Given the description of an element on the screen output the (x, y) to click on. 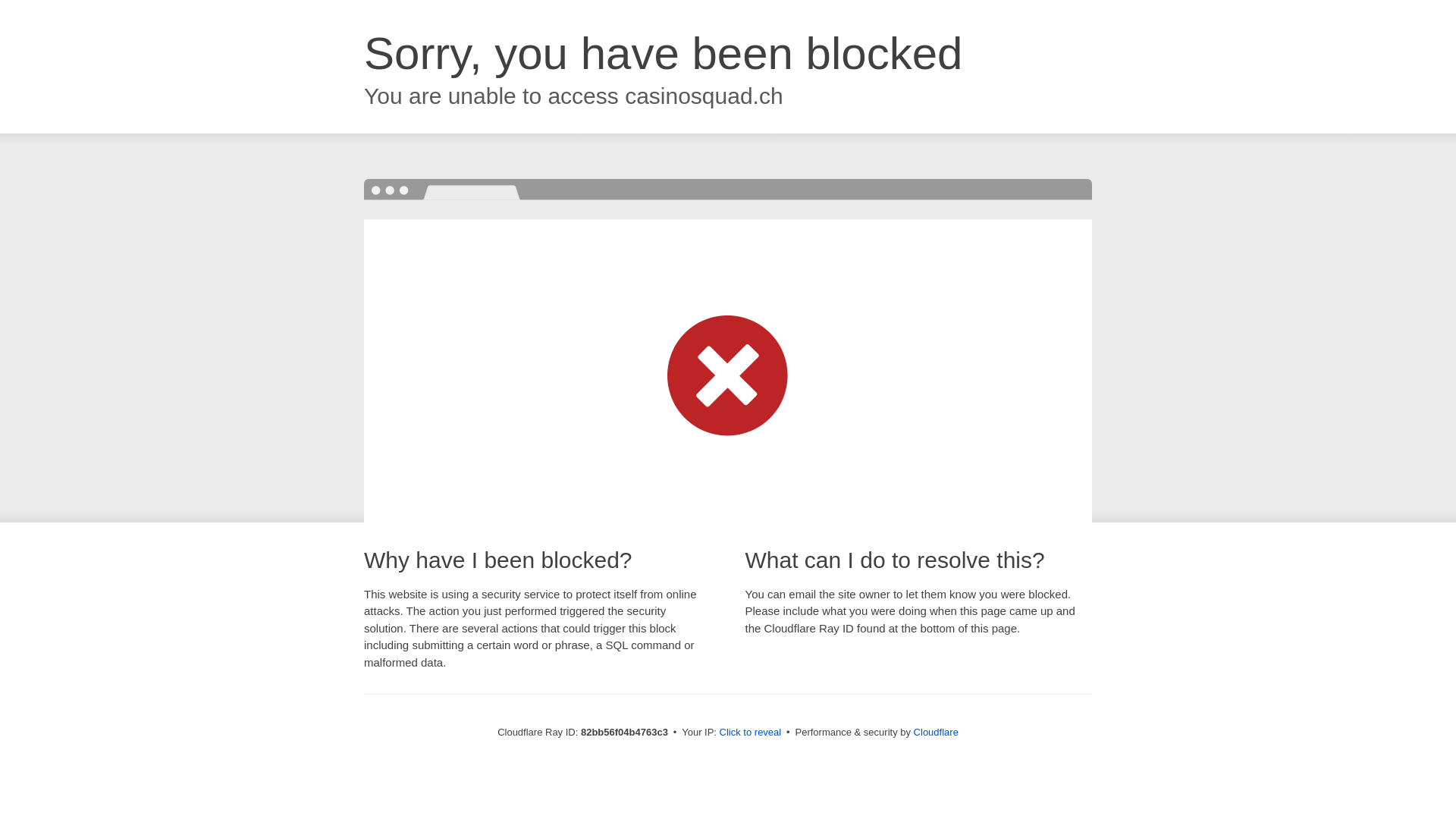
Cloudflare Element type: text (935, 731)
Click to reveal Element type: text (750, 732)
